Given the description of an element on the screen output the (x, y) to click on. 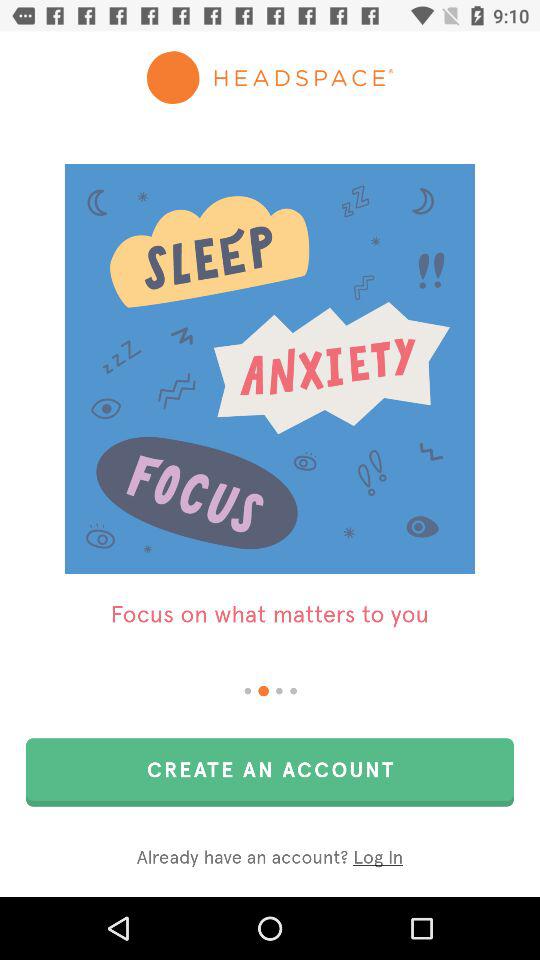
launch the icon below the create an account icon (269, 857)
